Given the description of an element on the screen output the (x, y) to click on. 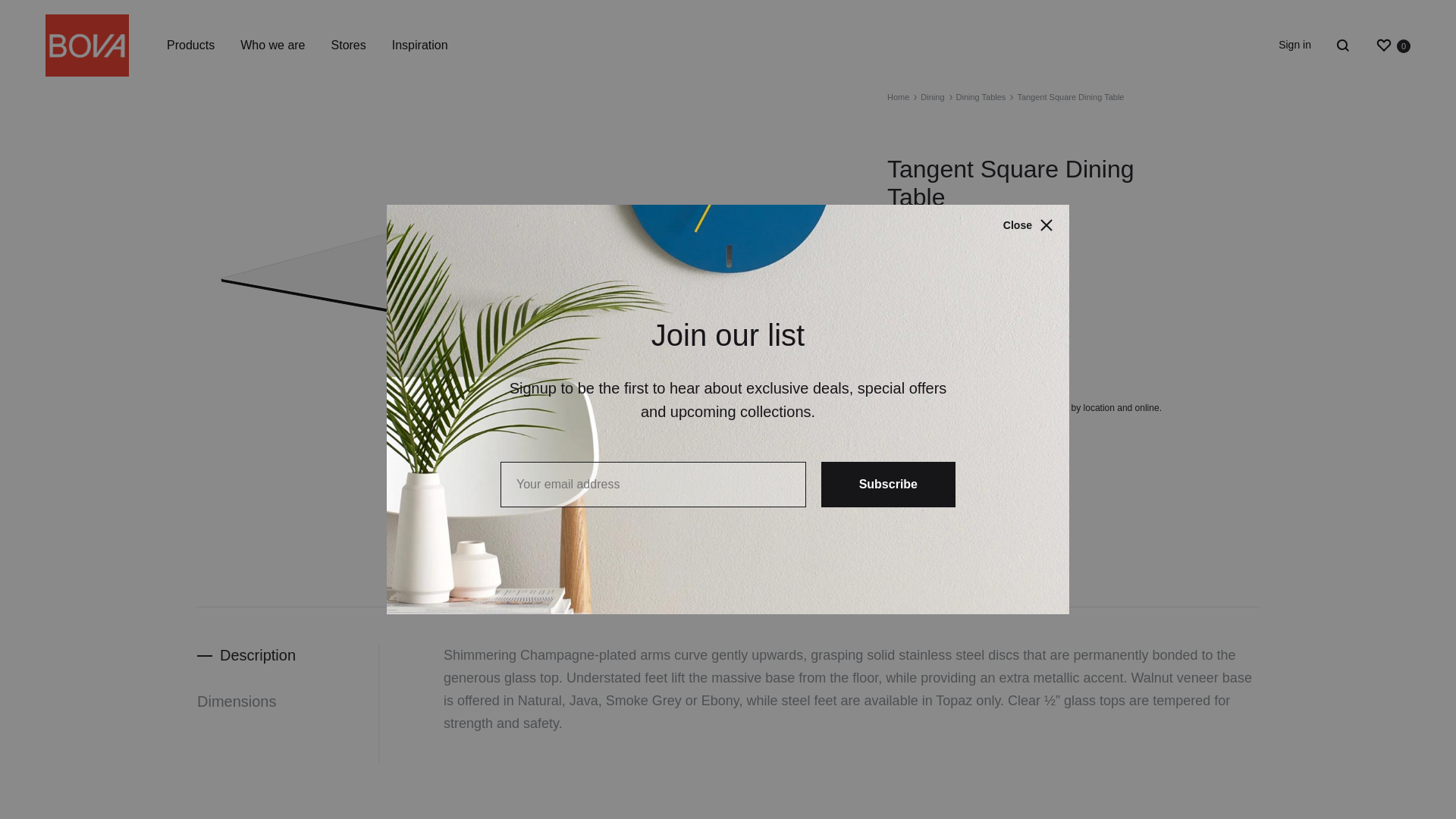
Subscribe (888, 483)
Inspiration (419, 45)
Who we are (272, 45)
Stores (348, 45)
Sign in (1392, 45)
Products (1294, 45)
